Given the description of an element on the screen output the (x, y) to click on. 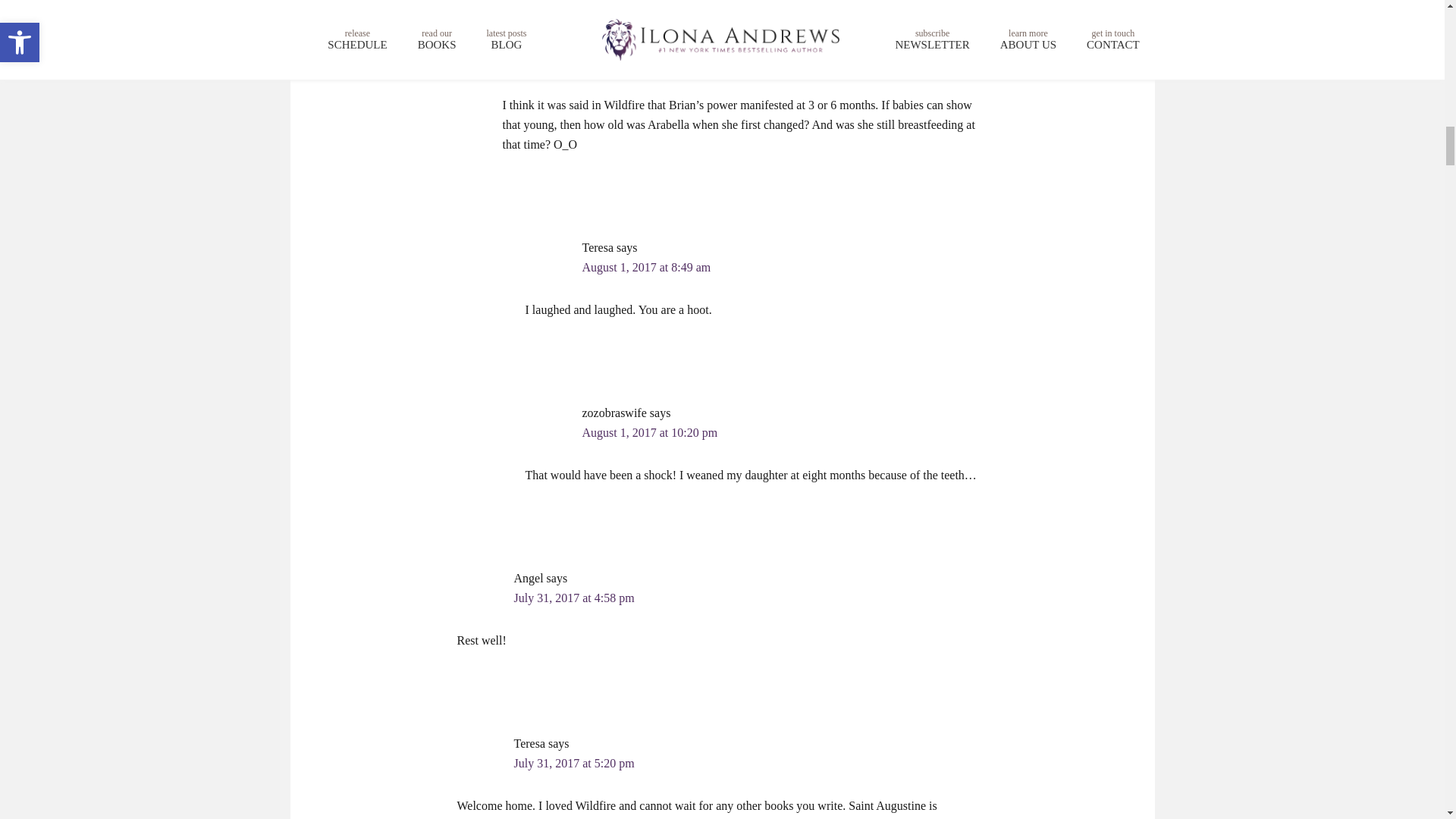
August 1, 2017 at 10:20 pm (649, 431)
August 1, 2017 at 8:49 am (646, 267)
July 31, 2017 at 7:21 pm (619, 62)
July 31, 2017 at 4:58 pm (573, 597)
